Given the description of an element on the screen output the (x, y) to click on. 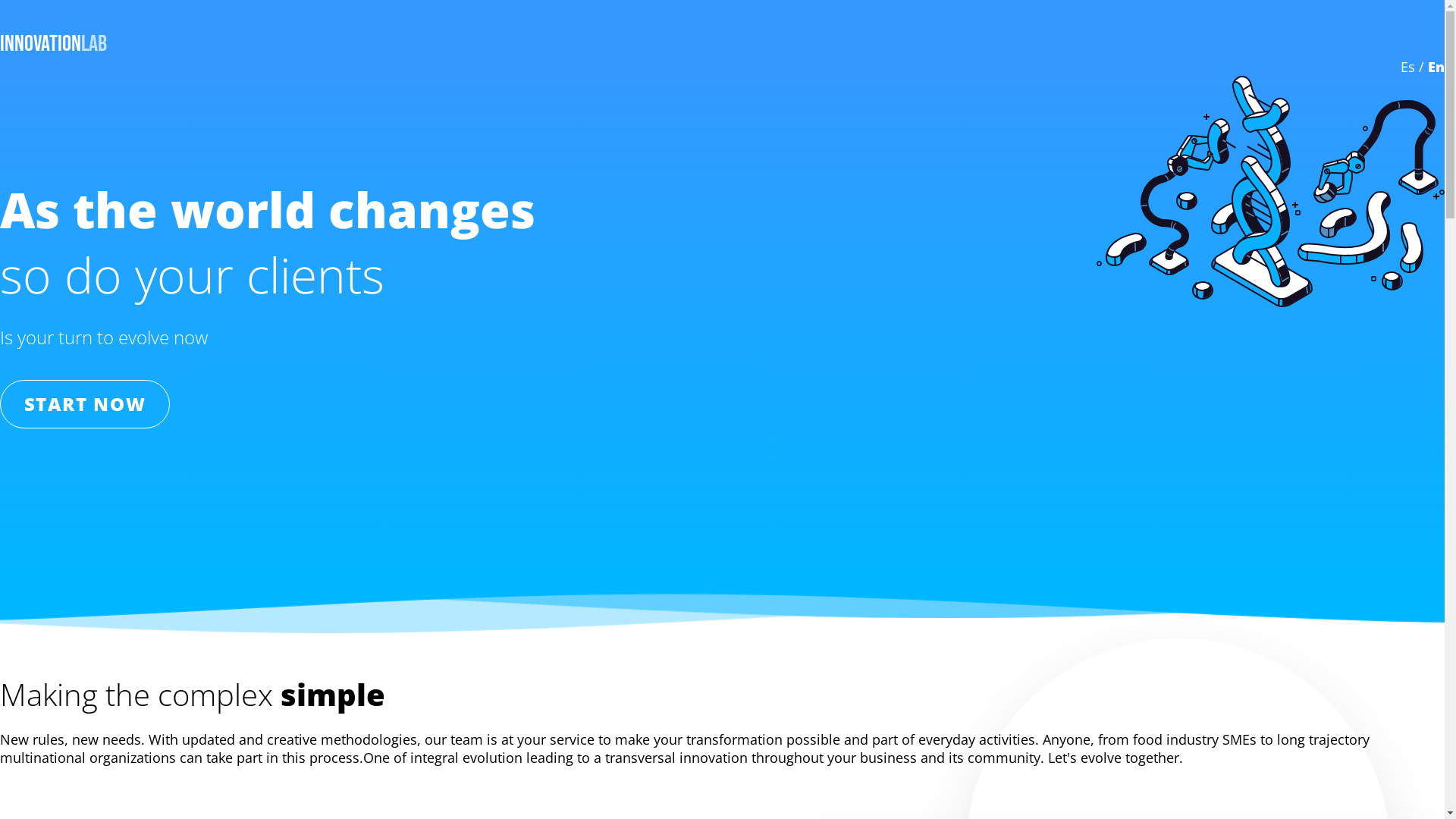
START NOW Element type: text (84, 403)
